Given the description of an element on the screen output the (x, y) to click on. 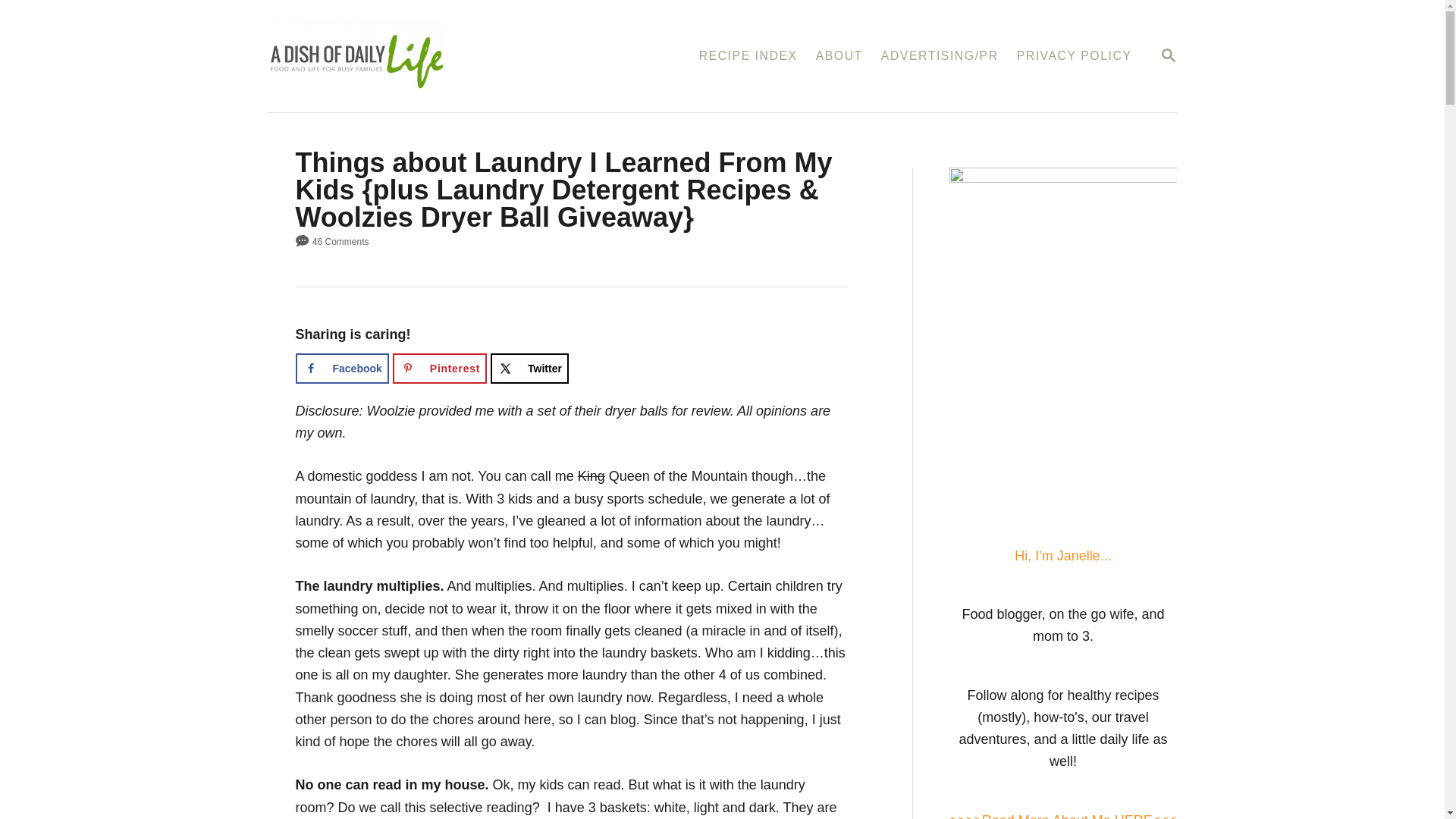
RECIPE INDEX (748, 55)
Twitter (1168, 55)
Save to Pinterest (529, 368)
MAGNIFYING GLASS (439, 368)
ABOUT (1167, 54)
Pinterest (839, 55)
Share on Facebook (439, 368)
A Dish of Daily Life (341, 368)
Facebook (429, 56)
